Given the description of an element on the screen output the (x, y) to click on. 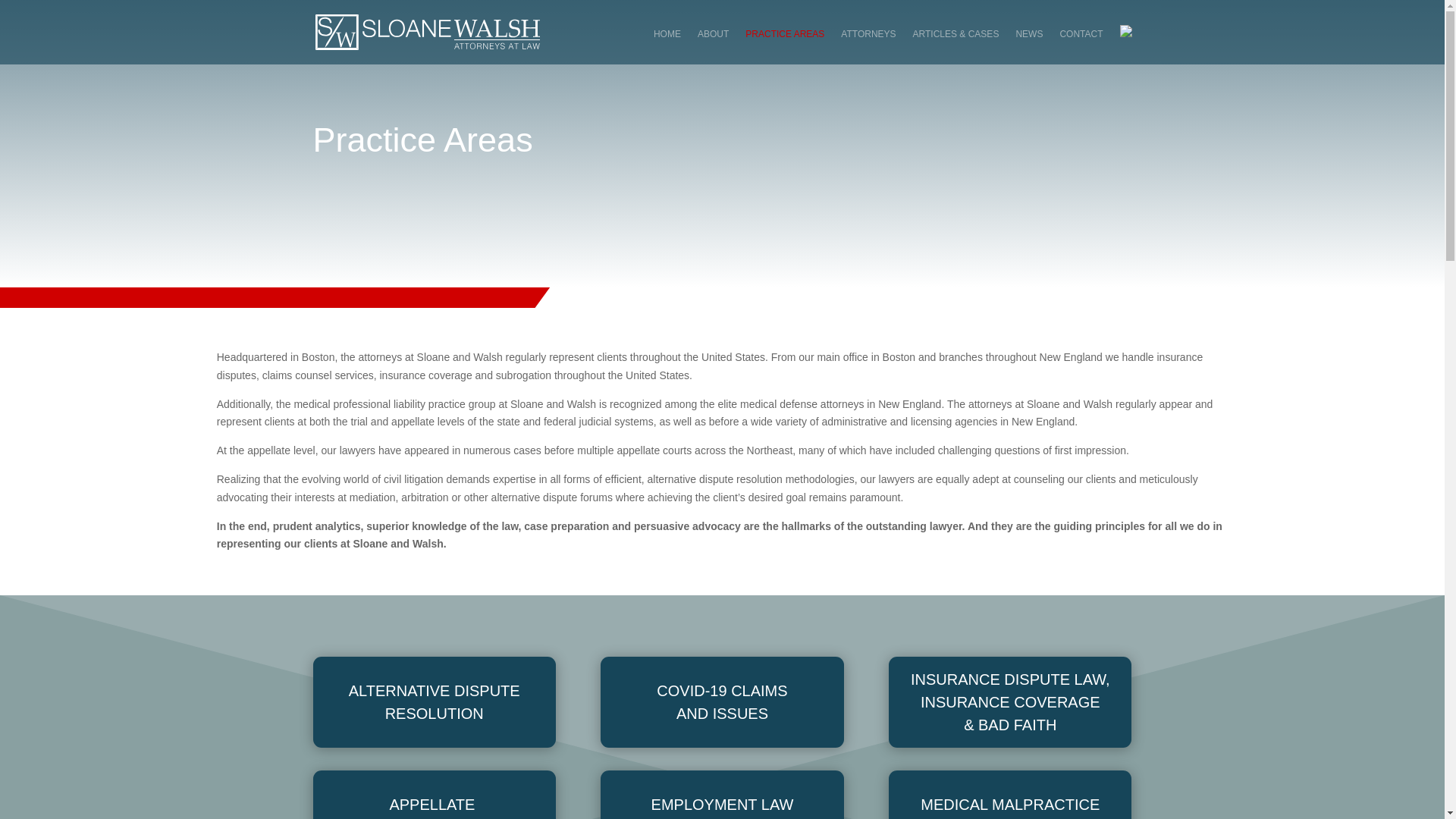
ATTORNEYS (868, 46)
PRACTICE AREAS (784, 46)
CONTACT (1080, 46)
